Given the description of an element on the screen output the (x, y) to click on. 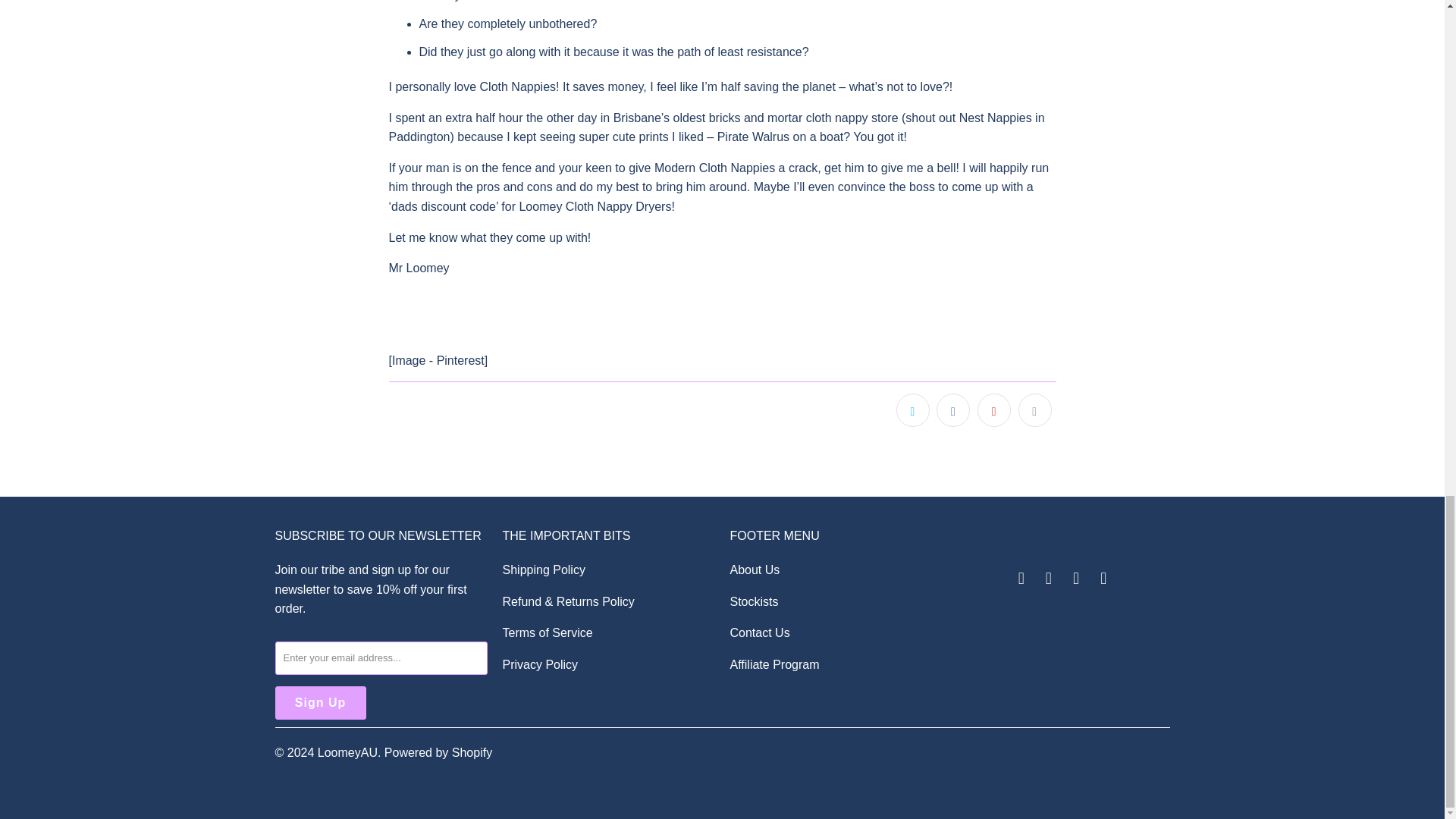
Sign Up (320, 702)
Share this on Pinterest (993, 409)
Sign Up (320, 702)
LoomeyAU on Facebook (1021, 578)
Contact Us (759, 632)
Email this to a friend (1034, 409)
Shipping Policy (543, 569)
LoomeyAU on Pinterest (1049, 578)
Privacy Policy (540, 664)
Affiliate Program (773, 664)
